Given the description of an element on the screen output the (x, y) to click on. 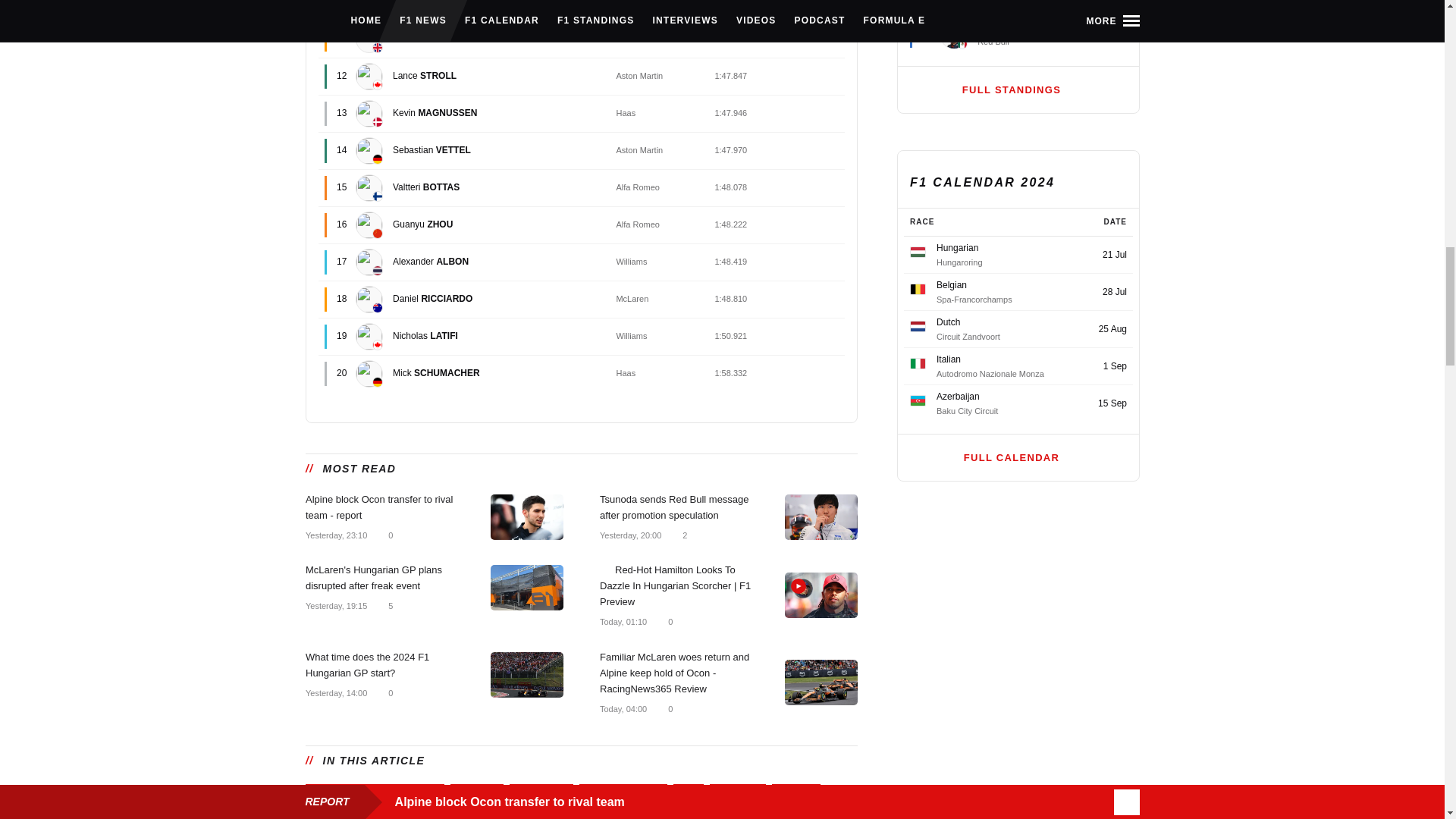
Thursday, 18 July 2024 at 23:10 (335, 533)
Thursday, 18 July 2024 at 20:00 (629, 533)
Friday, 19 July 2024 at 04:00 (622, 707)
Thursday, 18 July 2024 at 19:15 (335, 605)
Friday, 19 July 2024 at 01:10 (622, 620)
Thursday, 18 July 2024 at 14:00 (335, 691)
